Given the description of an element on the screen output the (x, y) to click on. 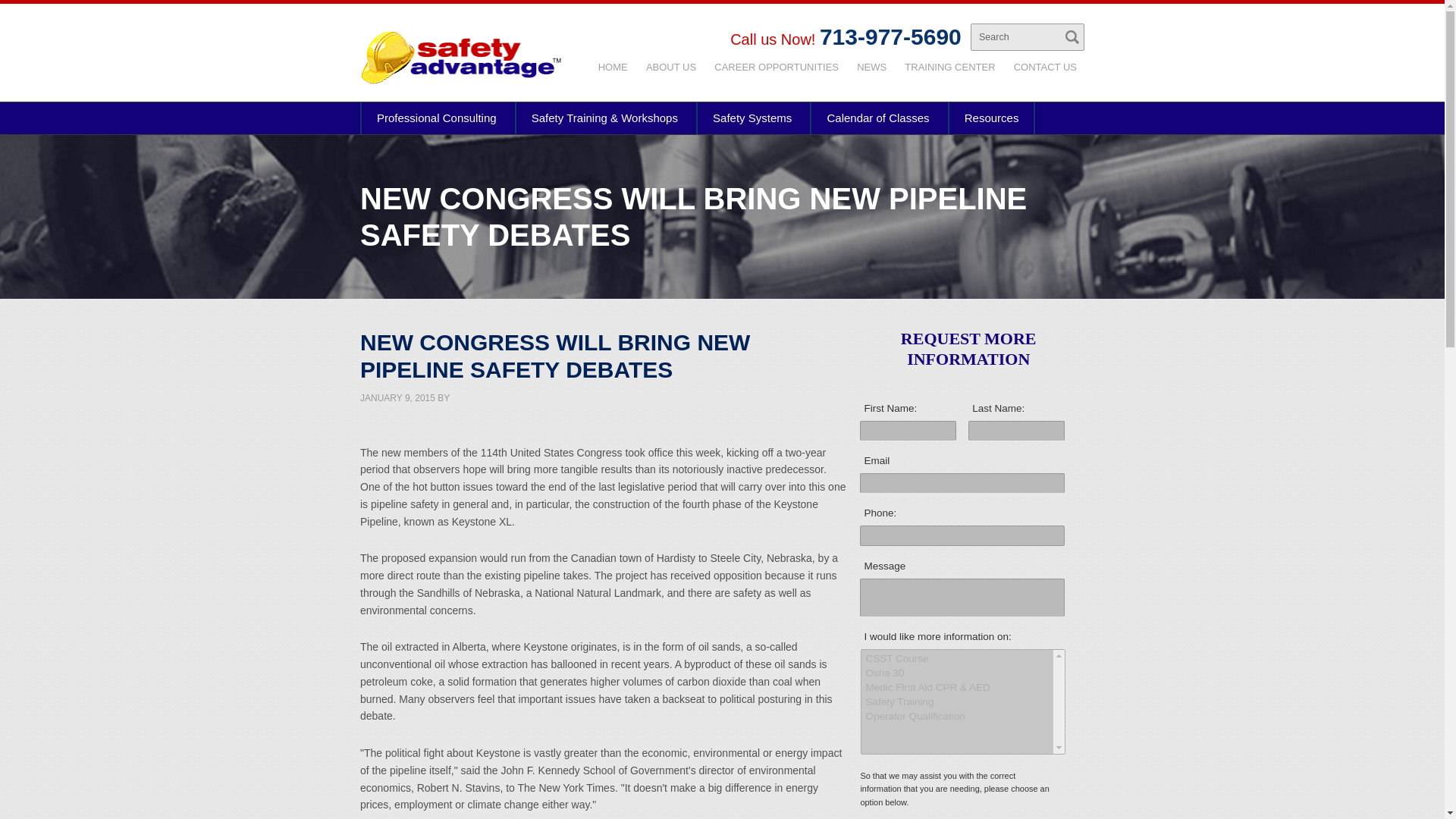
Professional Consulting (436, 118)
Safety Systems (751, 118)
CONTACT US (1045, 67)
NEWS (870, 67)
CAREER OPPORTUNITIES (775, 67)
Resources (991, 118)
HOME (612, 67)
Safety Advantage (459, 57)
